Given the description of an element on the screen output the (x, y) to click on. 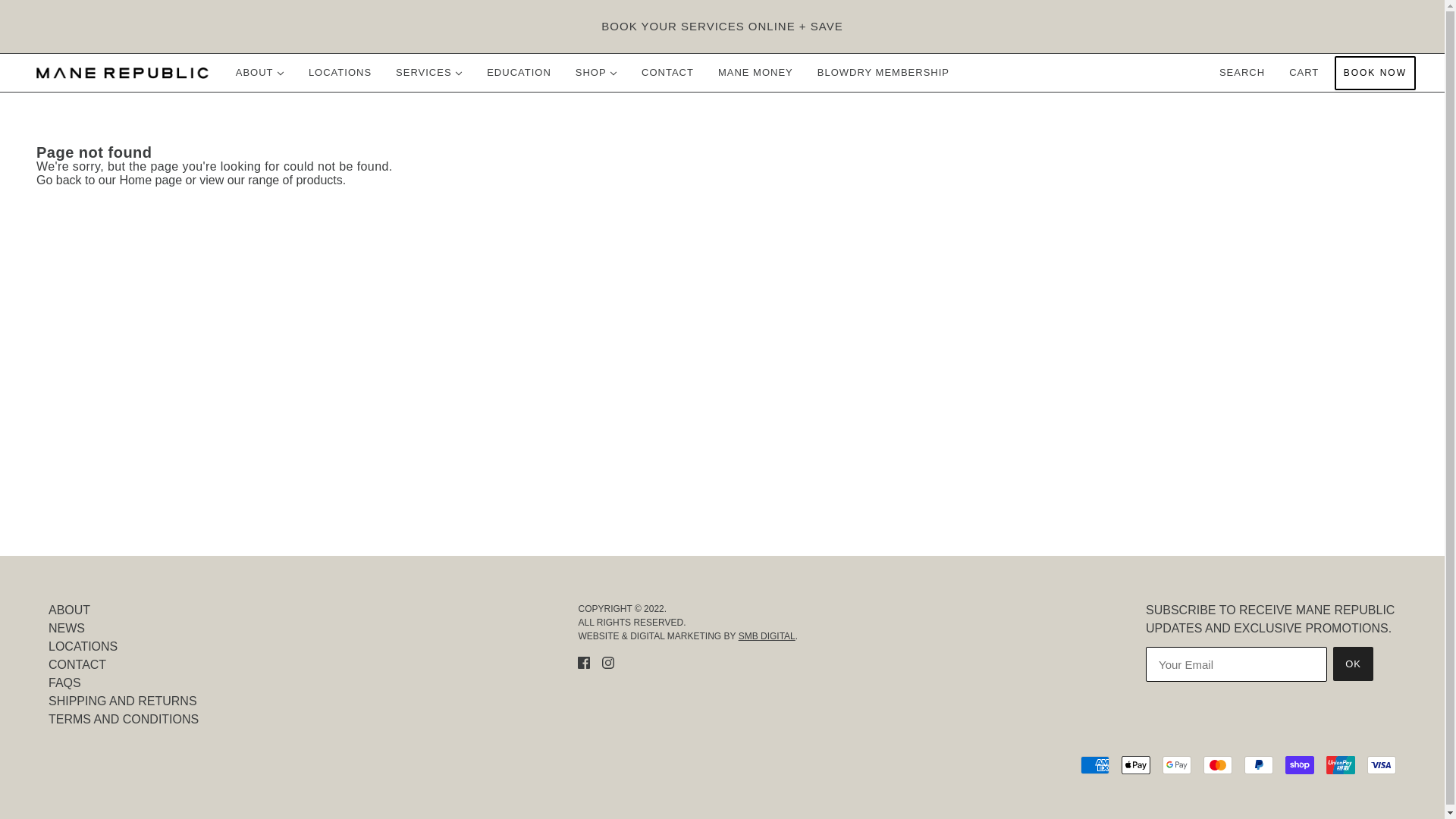
Visa (1381, 764)
Apple Pay (1135, 764)
Terms and Conditions (123, 718)
Shop Pay (1299, 764)
Mastercard (1217, 764)
Locations (82, 645)
Union Pay (1340, 764)
Shipping and Returns (122, 700)
American Express (1094, 764)
Contact (77, 664)
